Given the description of an element on the screen output the (x, y) to click on. 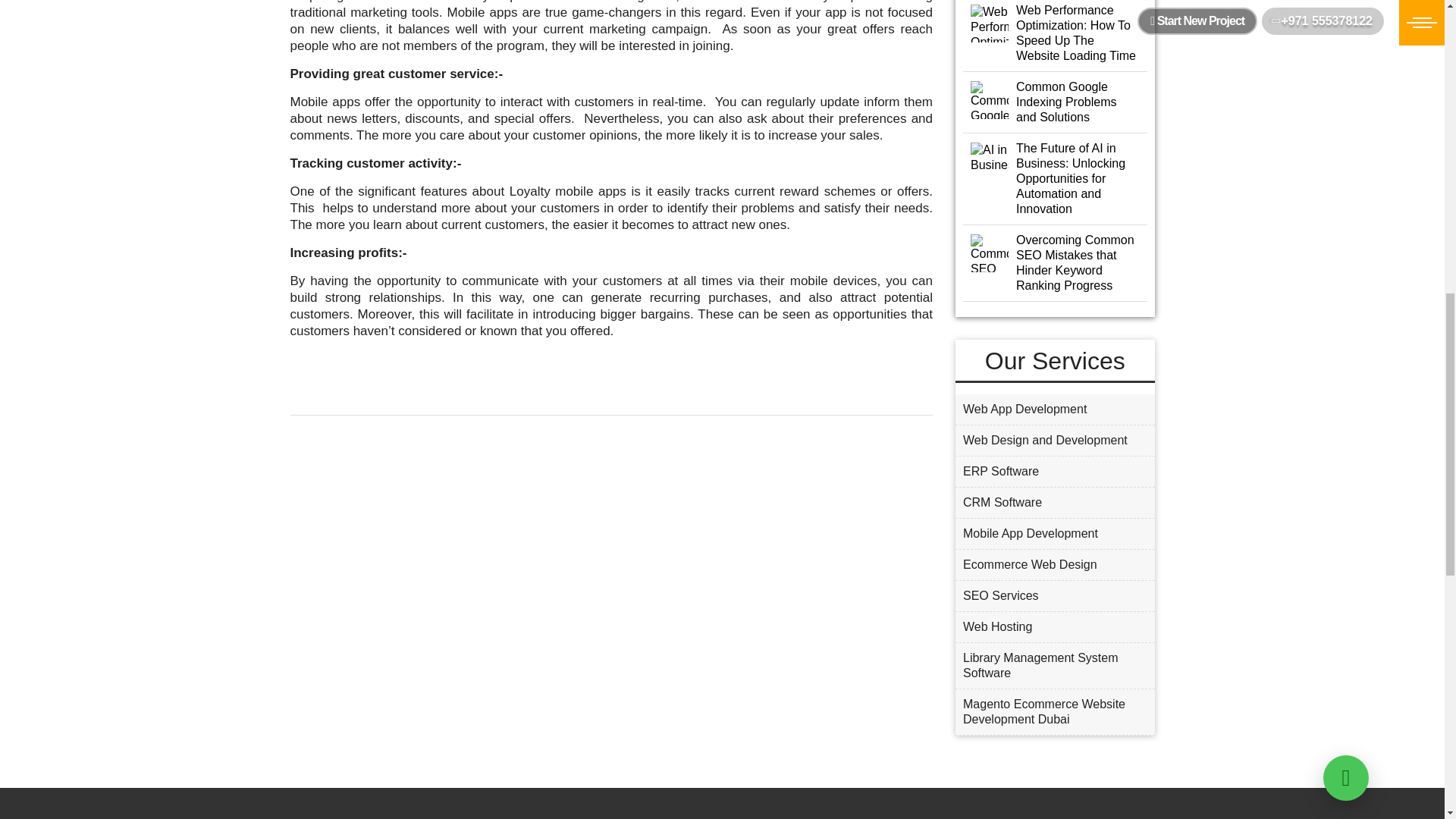
Common Google Indexing Problems and Solutions (1055, 102)
ERP Software (1054, 471)
Web App Development (1054, 409)
Web Design and Development (1054, 440)
